Given the description of an element on the screen output the (x, y) to click on. 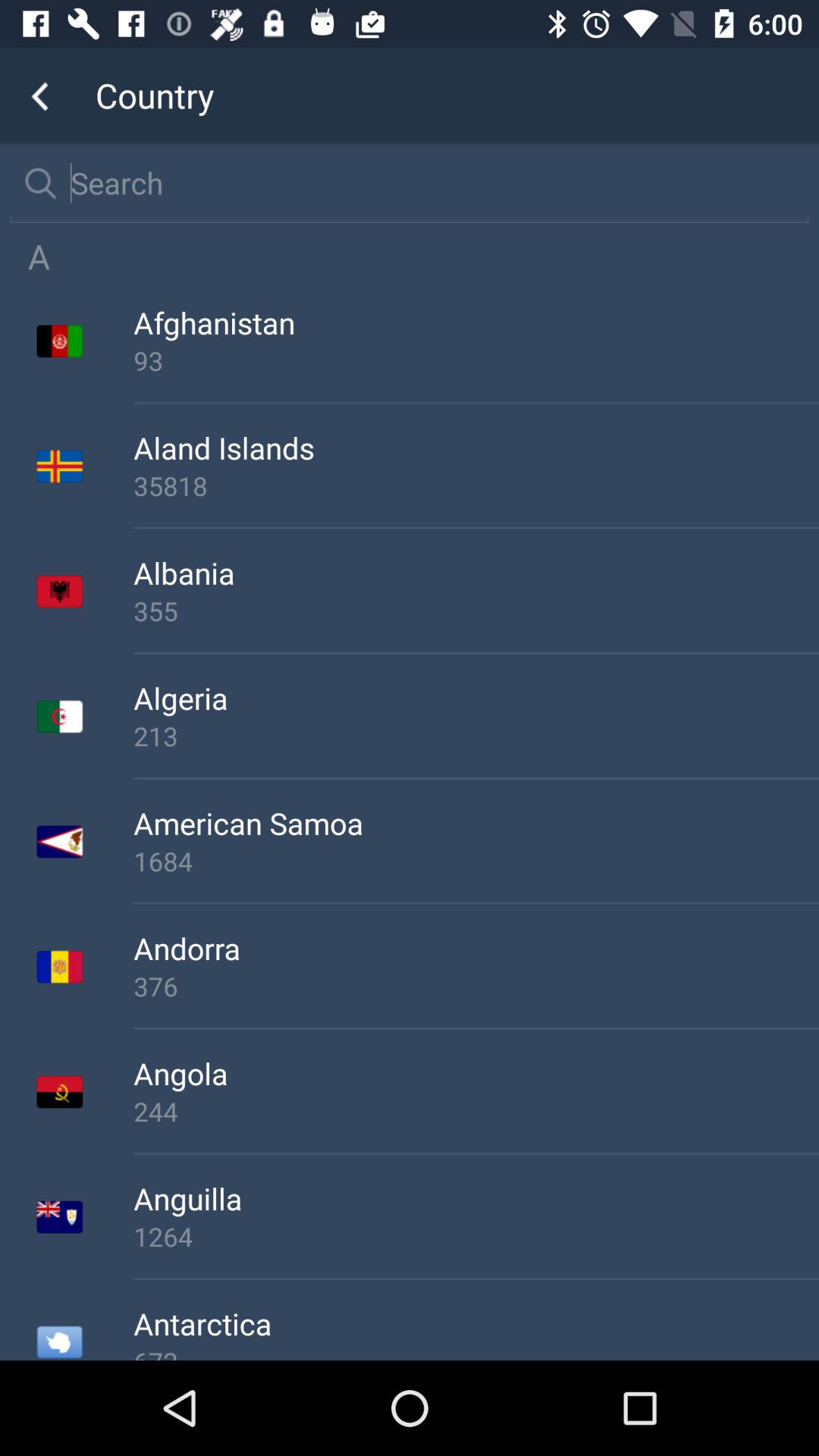
click the 1684 icon (476, 860)
